Given the description of an element on the screen output the (x, y) to click on. 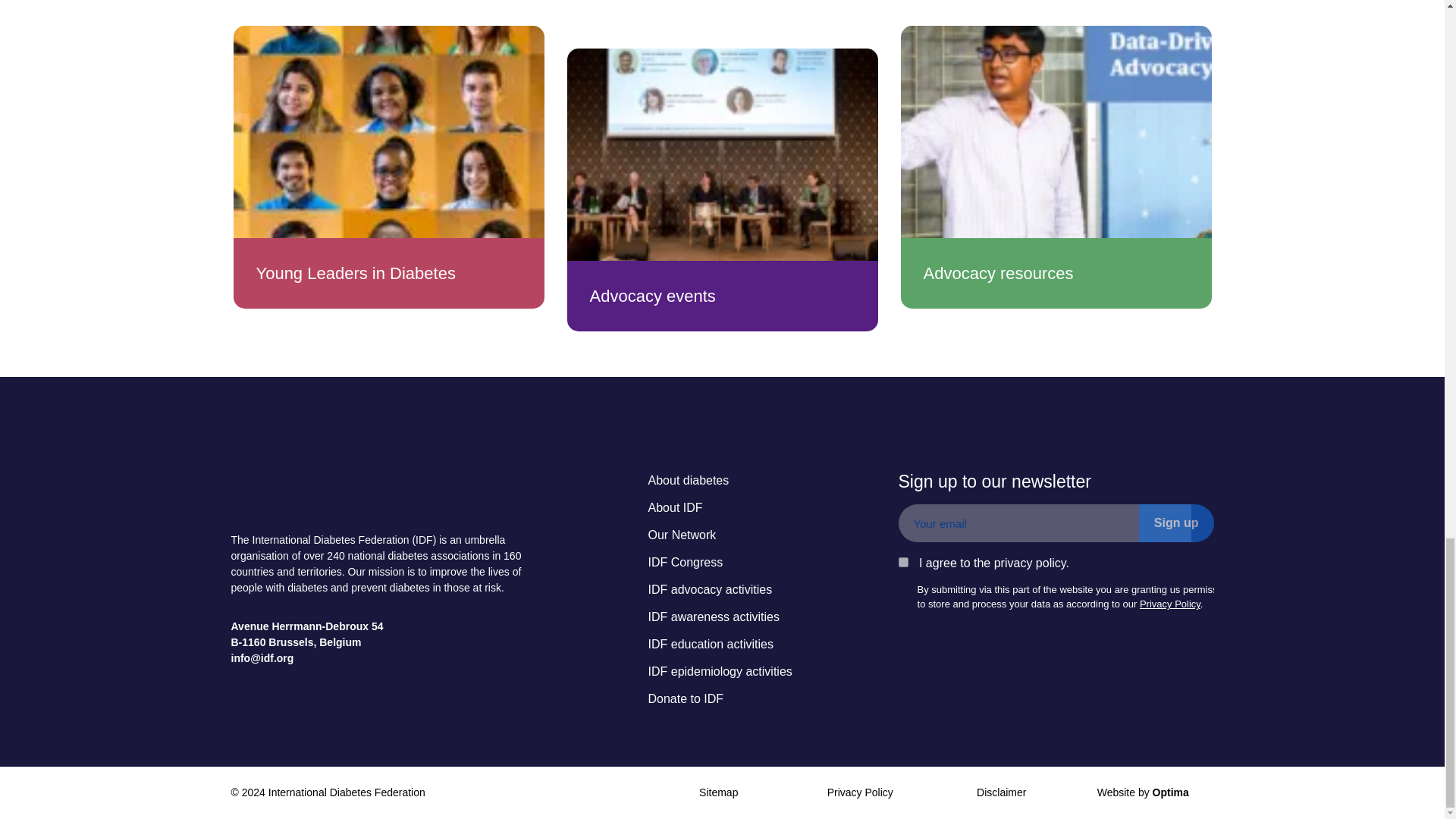
Sign up (1176, 523)
1 (903, 562)
